Given the description of an element on the screen output the (x, y) to click on. 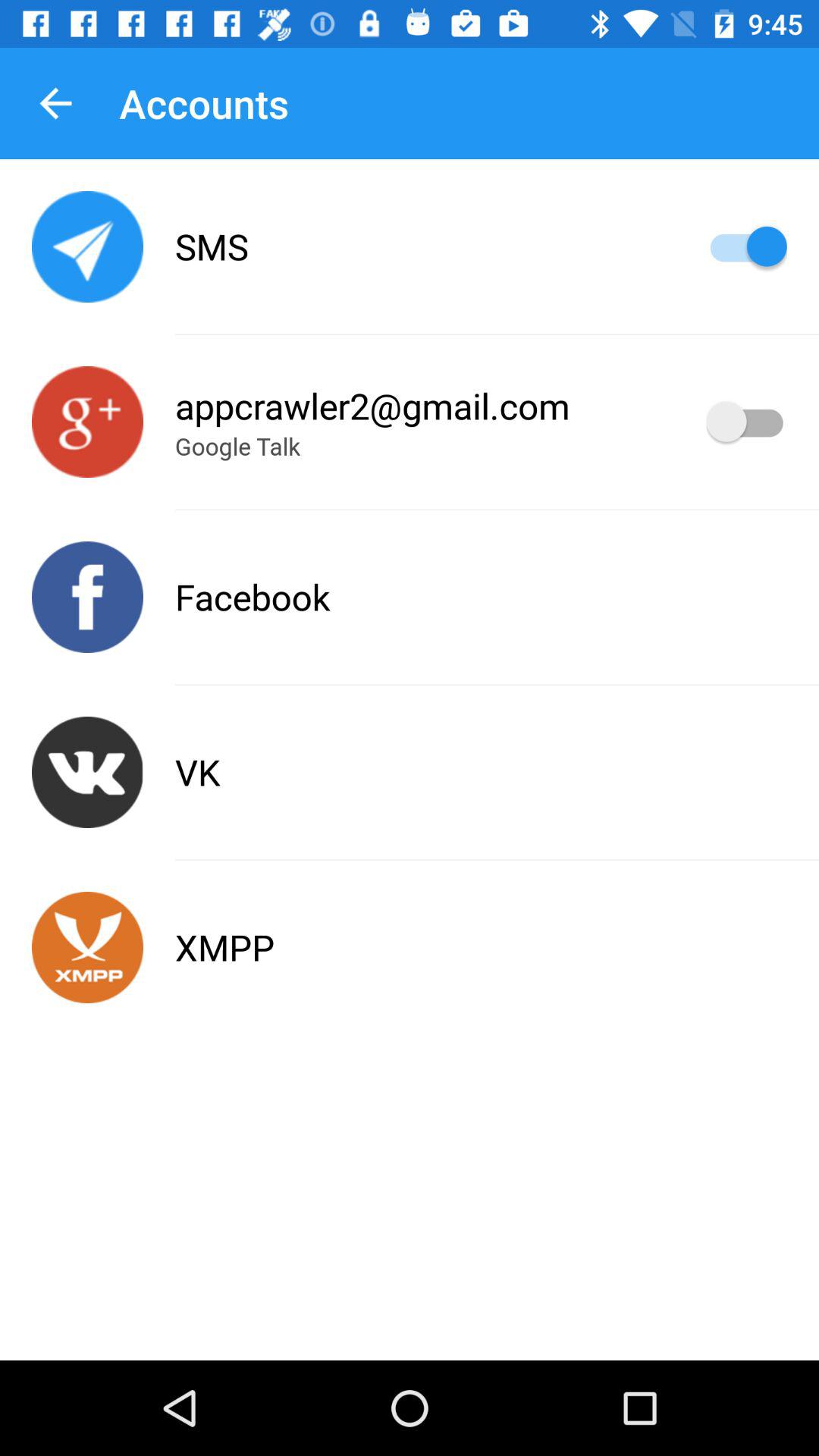
switches to facebook (87, 596)
